Given the description of an element on the screen output the (x, y) to click on. 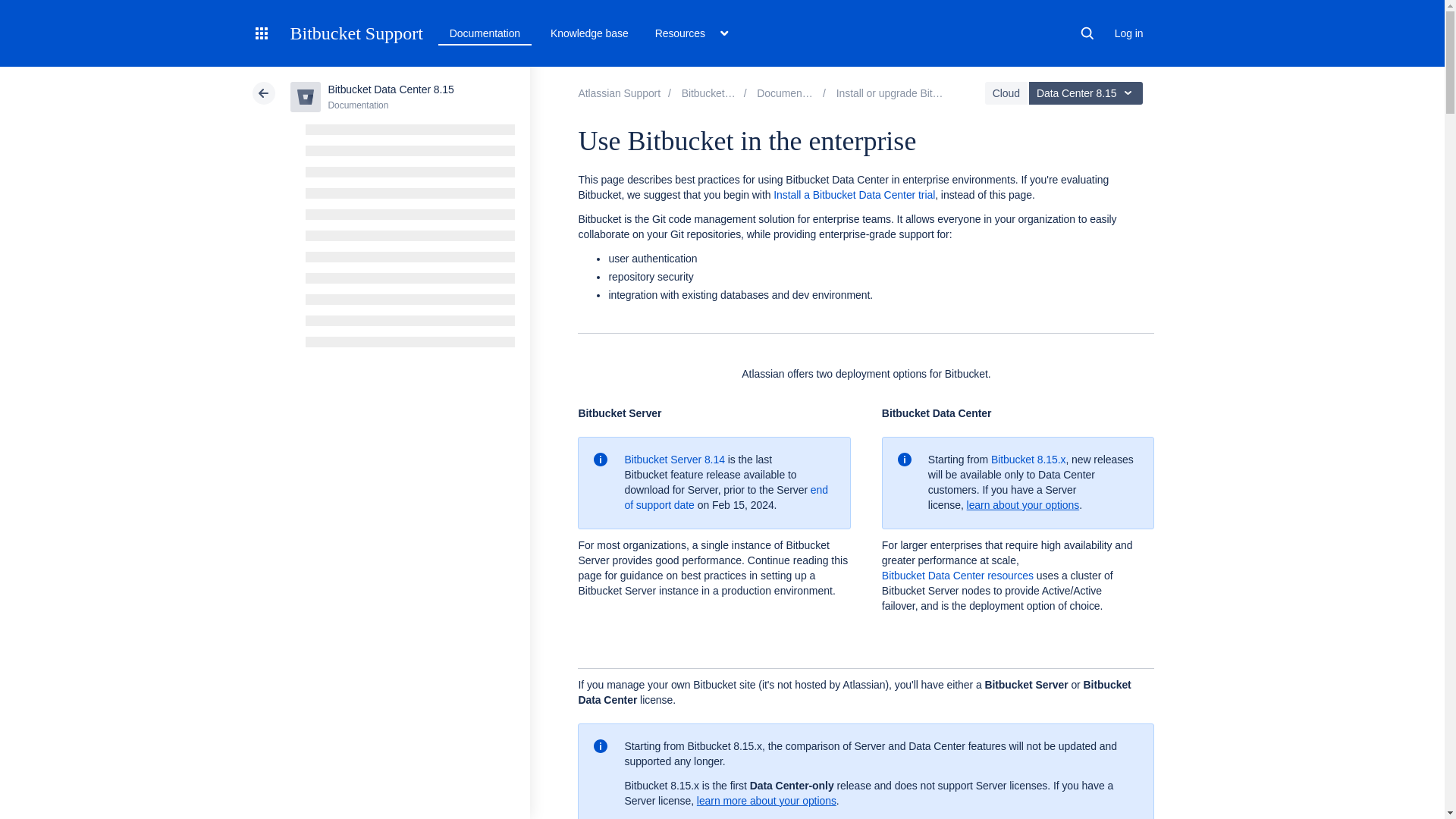
Knowledge base (589, 33)
Search (1087, 33)
Install or upgrade Bitbucket (899, 92)
Bitbucket Support (355, 33)
Atlassian Support (619, 92)
Log in (1128, 33)
Bitbucket (714, 92)
Documentation (484, 33)
Bitbucket Data Center 8.15 (792, 92)
